Given the description of an element on the screen output the (x, y) to click on. 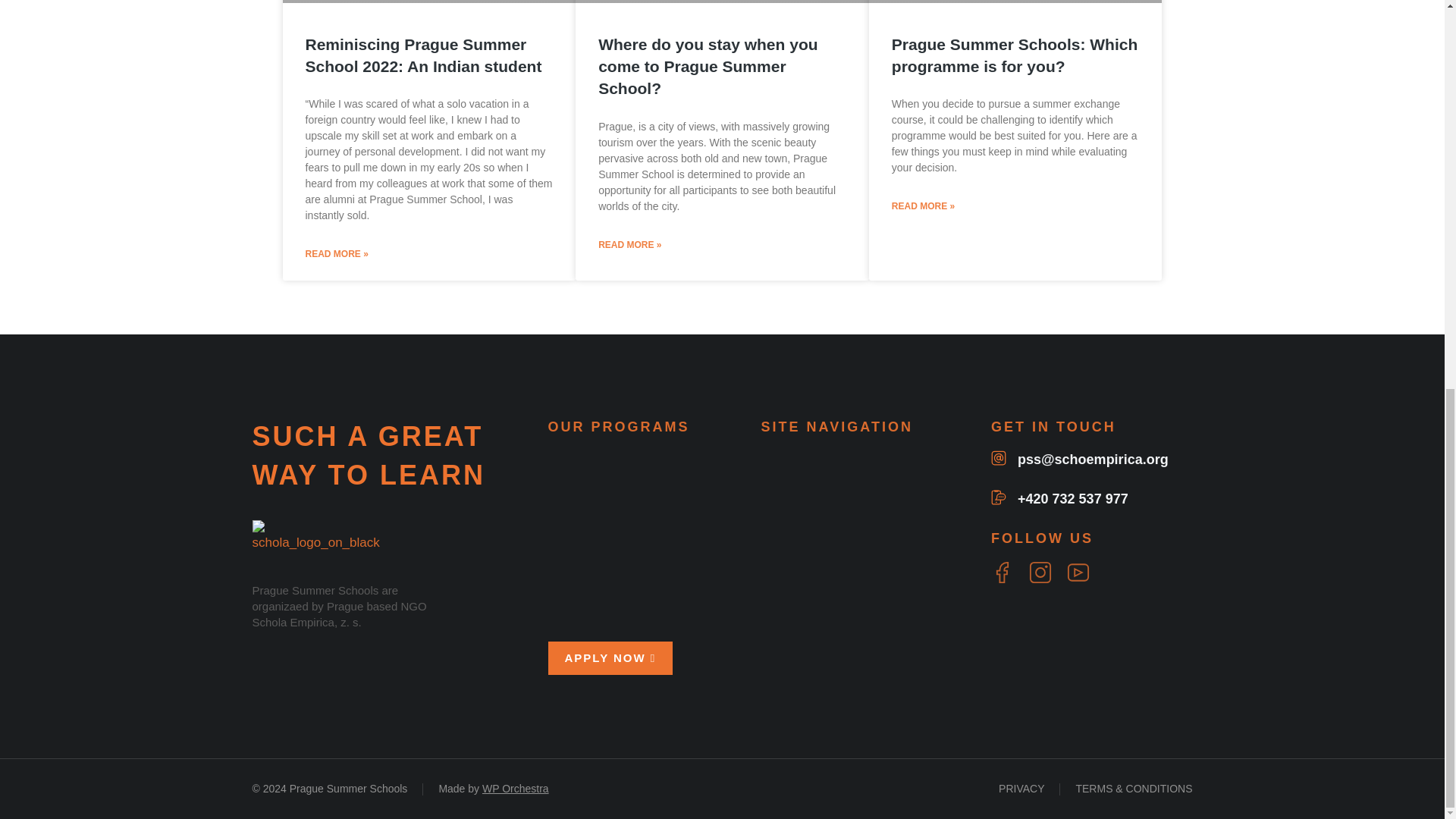
Reminiscing Prague Summer School 2022: An Indian student (422, 55)
Schola Empirica, z. s. (306, 621)
Where do you stay when you come to Prague Summer School? (707, 66)
Prague Summer Schools: Which programme is for you? (1014, 55)
